Given the description of an element on the screen output the (x, y) to click on. 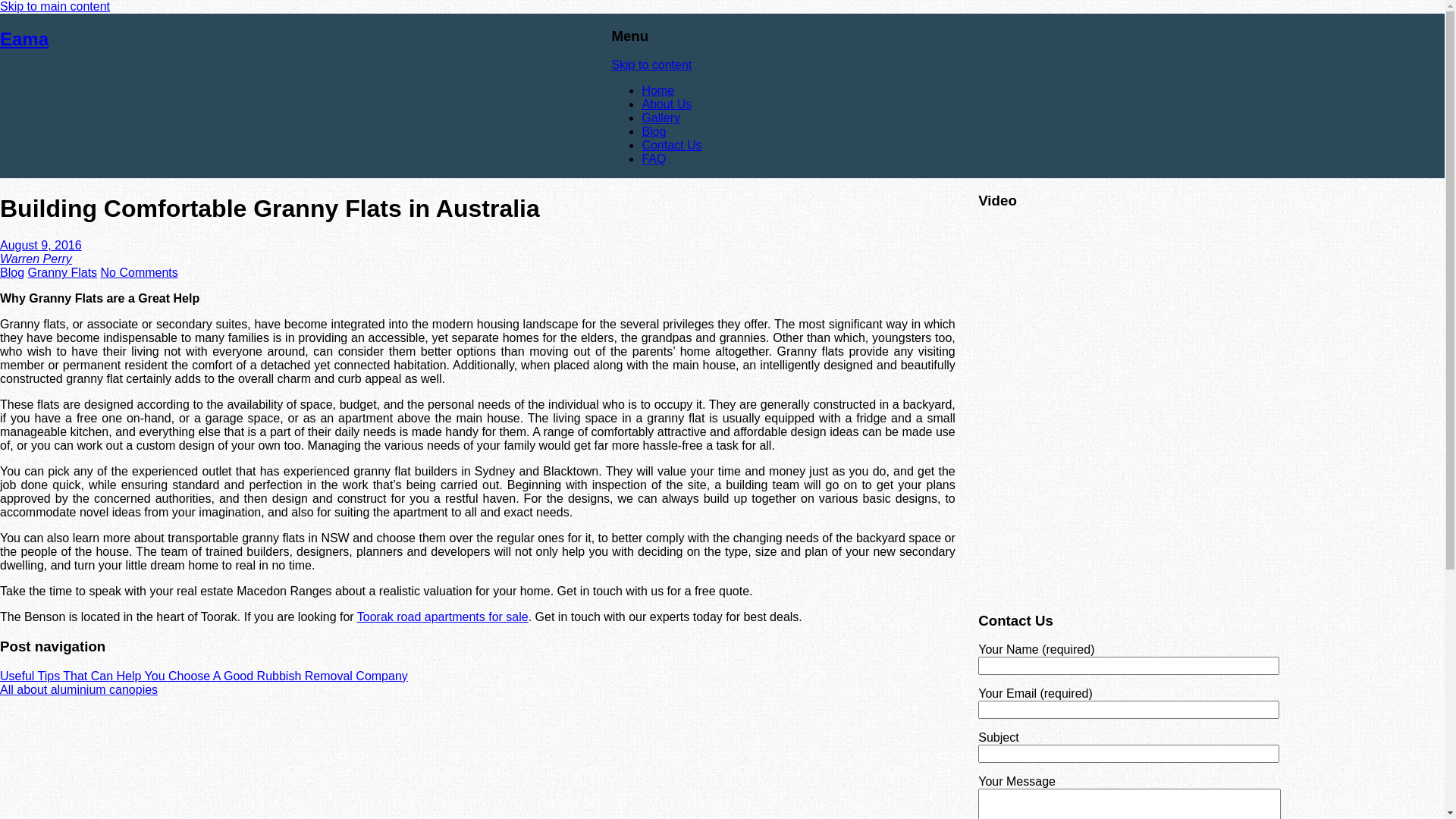
Granny Flats Element type: text (62, 272)
Blog Element type: text (12, 272)
No Comments Element type: text (139, 272)
About Us Element type: text (666, 103)
August 9, 2016 Element type: text (40, 244)
Skip to content Element type: text (651, 64)
Warren Perry Element type: text (36, 258)
Contact Us Element type: text (671, 144)
Skip to main content Element type: text (54, 6)
Gallery Element type: text (660, 117)
Home Element type: text (657, 90)
All about aluminium canopies Element type: text (78, 689)
Eama Element type: text (24, 38)
Toorak road apartments for sale Element type: text (442, 616)
FAQ Element type: text (653, 158)
Blog Element type: text (653, 131)
